Given the description of an element on the screen output the (x, y) to click on. 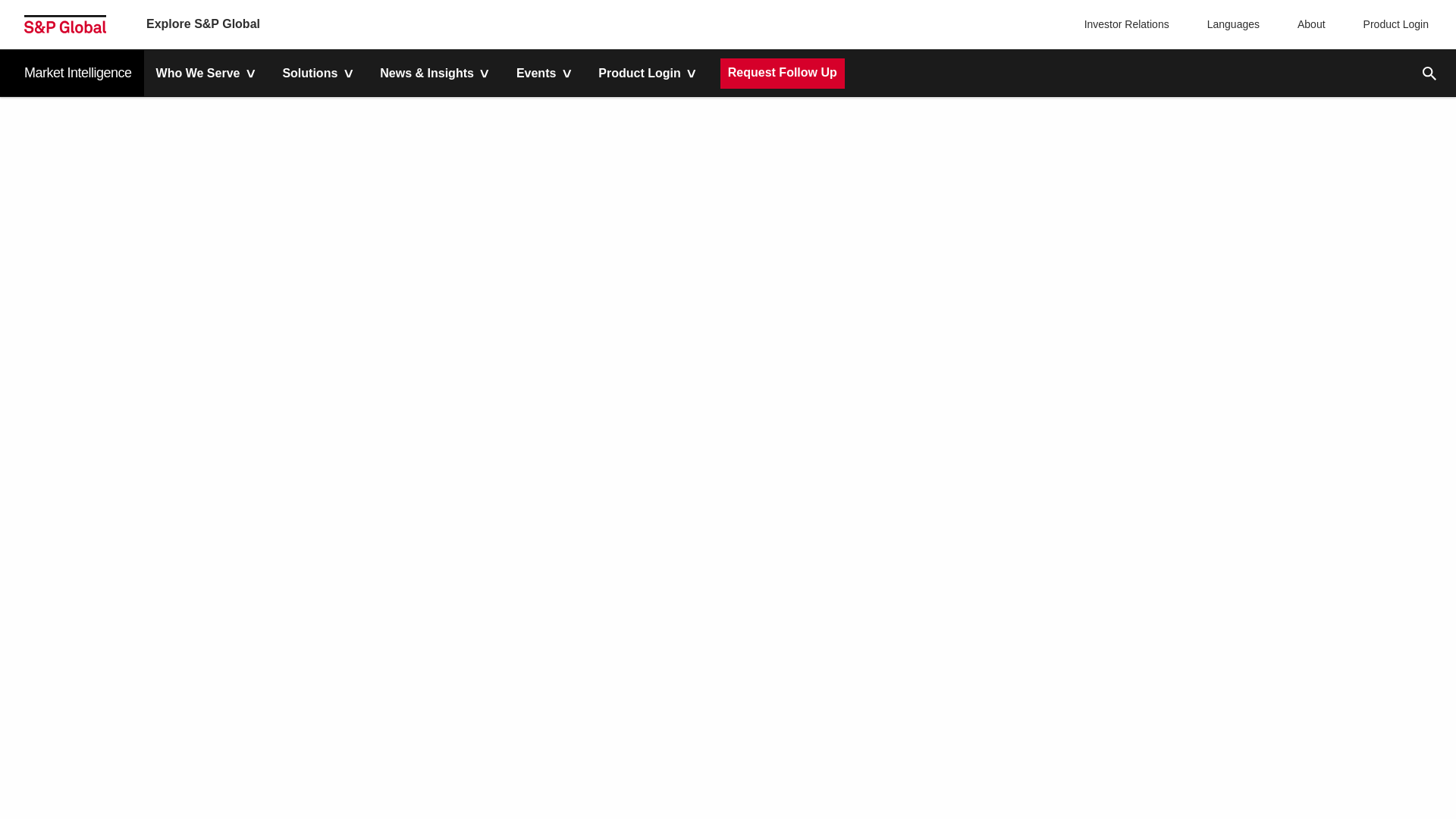
Product Login (1392, 24)
Languages (1230, 24)
Investor Relations (1129, 24)
About (1307, 24)
